Given the description of an element on the screen output the (x, y) to click on. 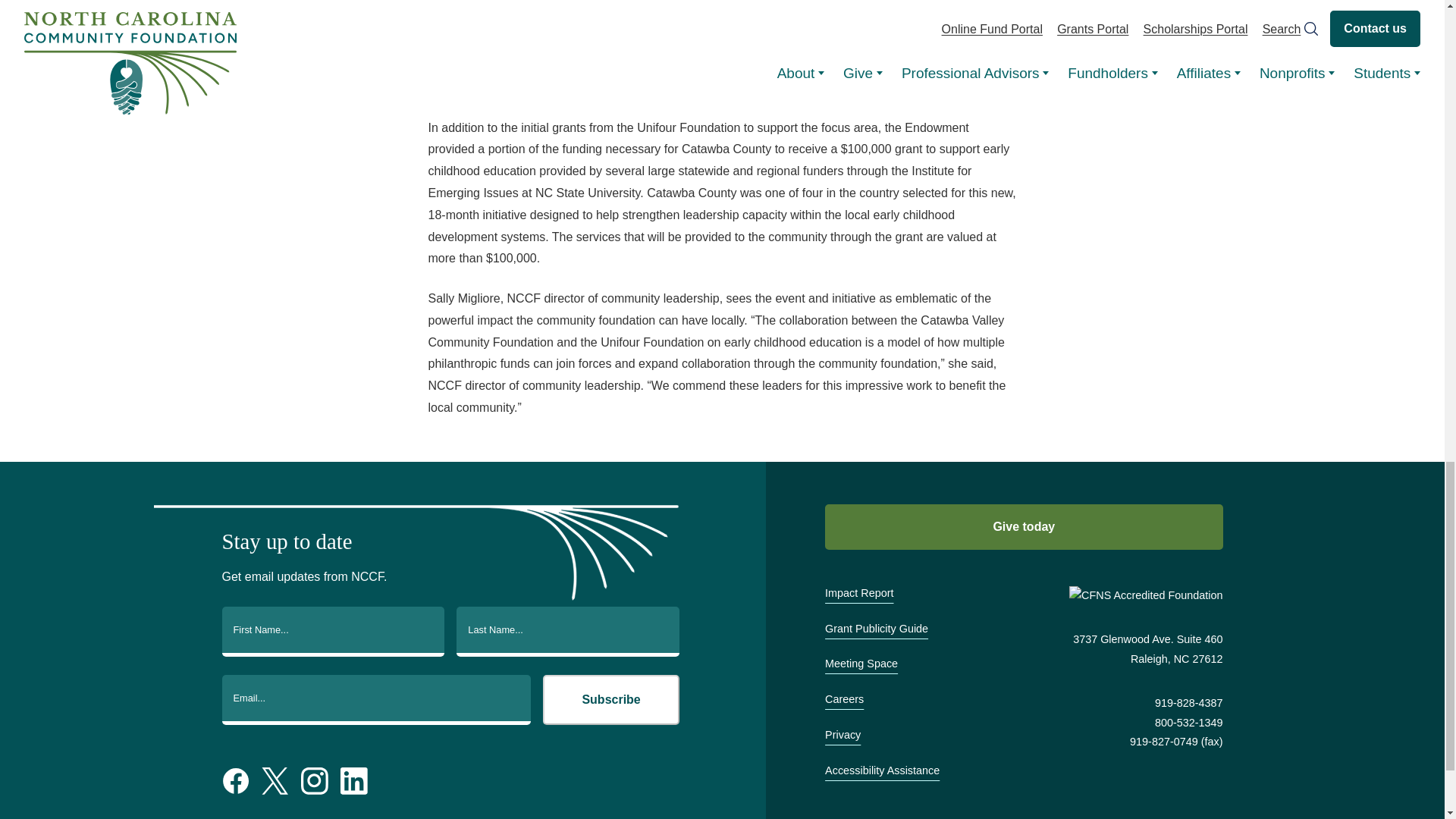
Subscribe (611, 699)
